Given the description of an element on the screen output the (x, y) to click on. 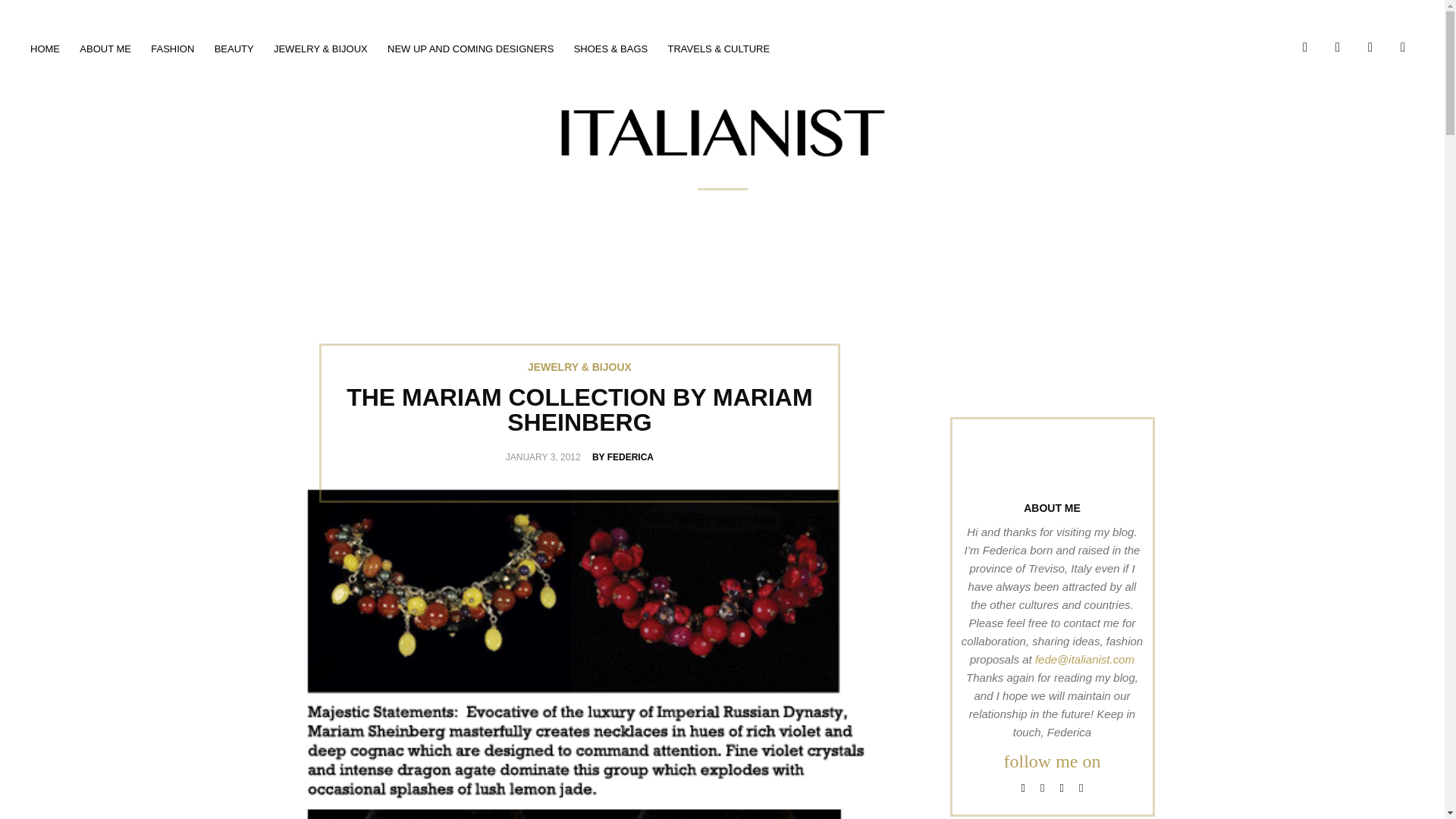
ABOUT ME (105, 48)
NEW UP AND COMING DESIGNERS (470, 48)
HOME (45, 48)
FASHION (172, 48)
BEAUTY (234, 48)
